Given the description of an element on the screen output the (x, y) to click on. 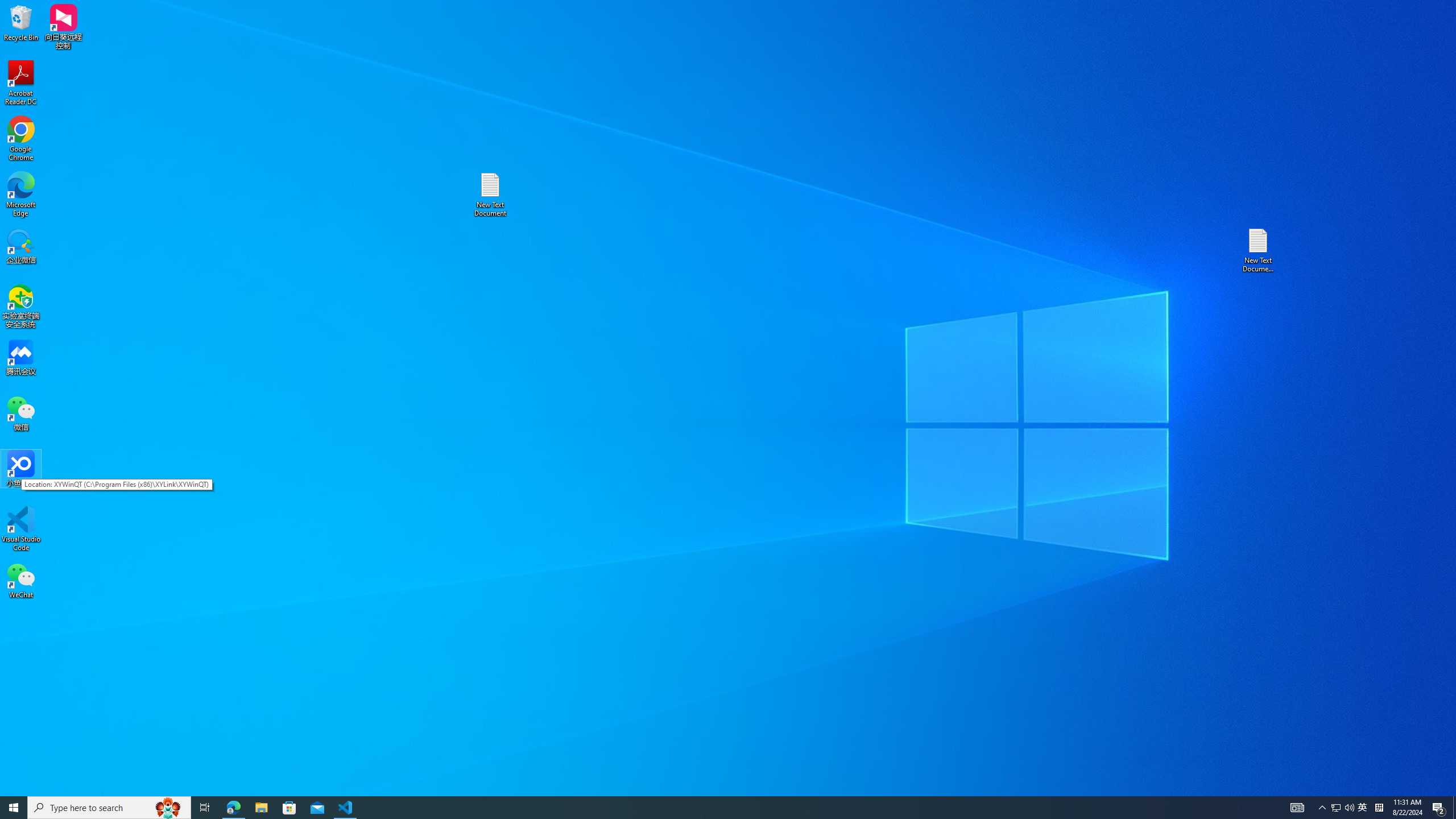
Microsoft Edge (1362, 807)
WeChat (21, 194)
New Text Document (2) (21, 580)
Acrobat Reader DC (1258, 250)
Visual Studio Code (21, 82)
